Given the description of an element on the screen output the (x, y) to click on. 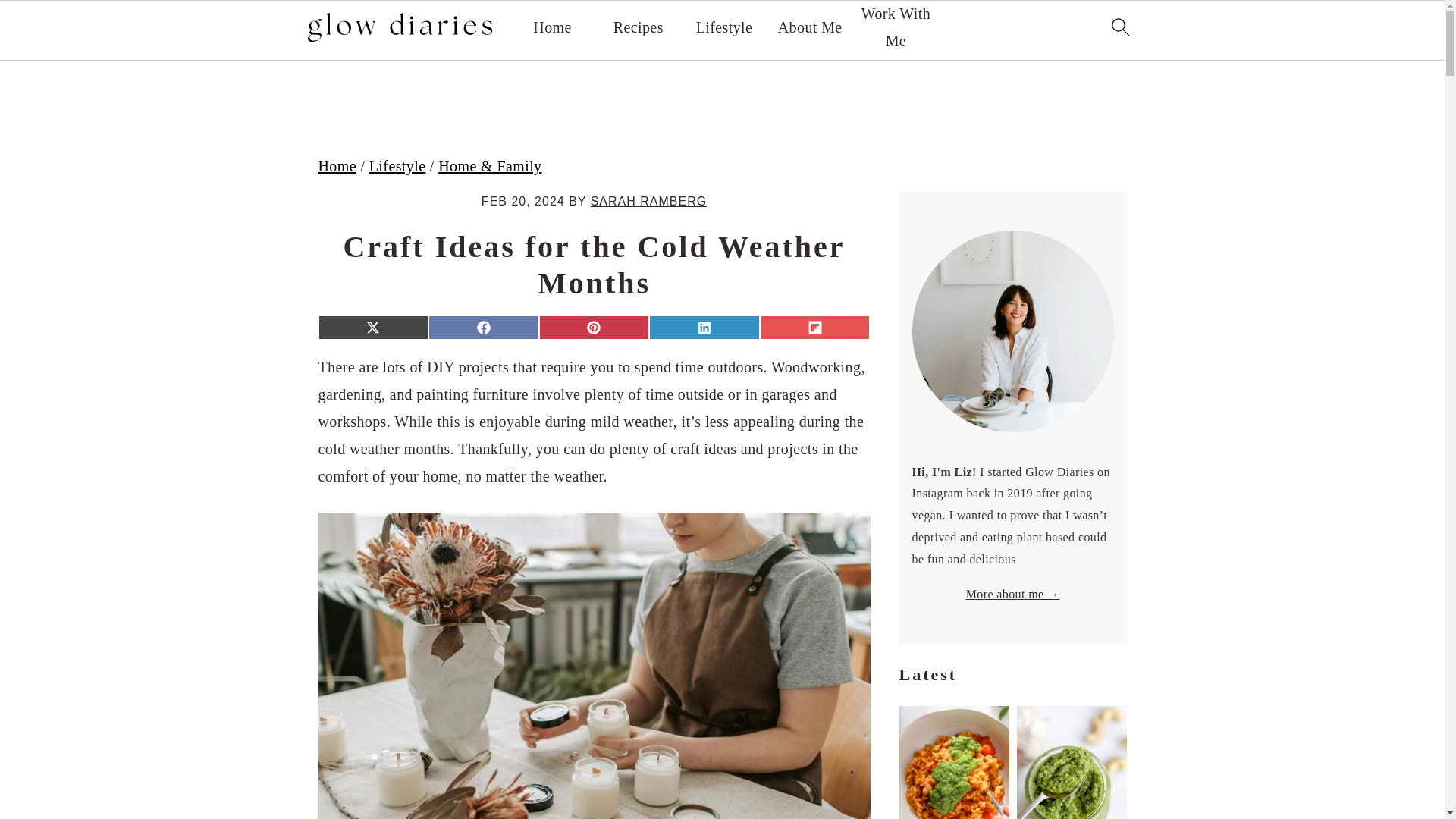
Work With Me (895, 27)
SHARE ON FACEBOOK (483, 327)
About Me (810, 26)
SARAH RAMBERG (648, 201)
Home (551, 26)
SHARE ON FLIP IT (815, 327)
search icon (1119, 26)
Lifestyle (397, 166)
SHARE ON LINKEDIN (704, 327)
